Given the description of an element on the screen output the (x, y) to click on. 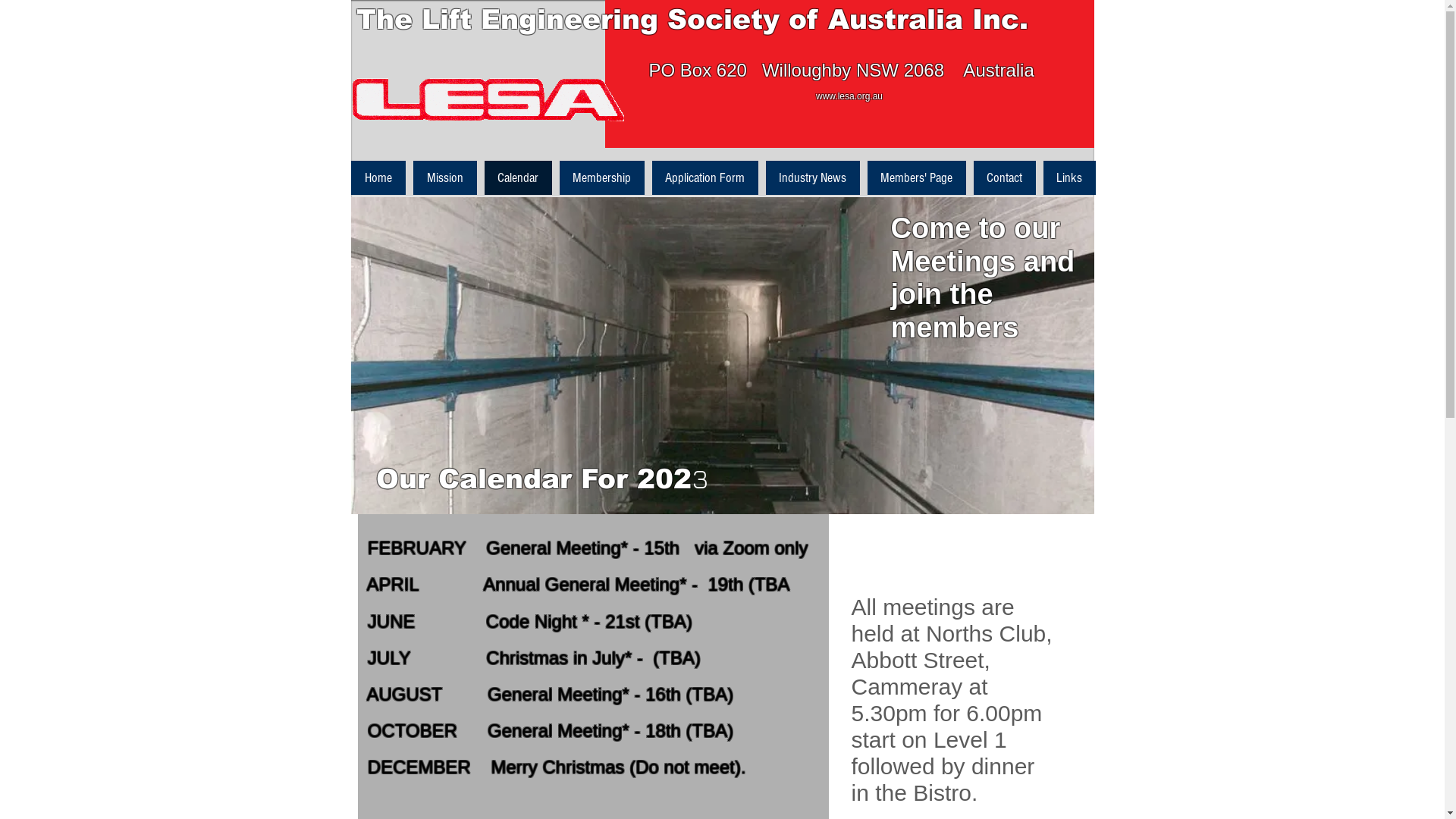
Members' Page Element type: text (916, 177)
Membership Element type: text (601, 177)
Mission Element type: text (444, 177)
Industry News Element type: text (812, 177)
Application Form Element type: text (705, 177)
www.lesa.org.au Element type: text (848, 96)
Calendar Element type: text (517, 177)
Contact Element type: text (1004, 177)
Home Element type: text (377, 177)
elevator_shaft_view.jpg Element type: hover (721, 355)
Links Element type: text (1069, 177)
